Given the description of an element on the screen output the (x, y) to click on. 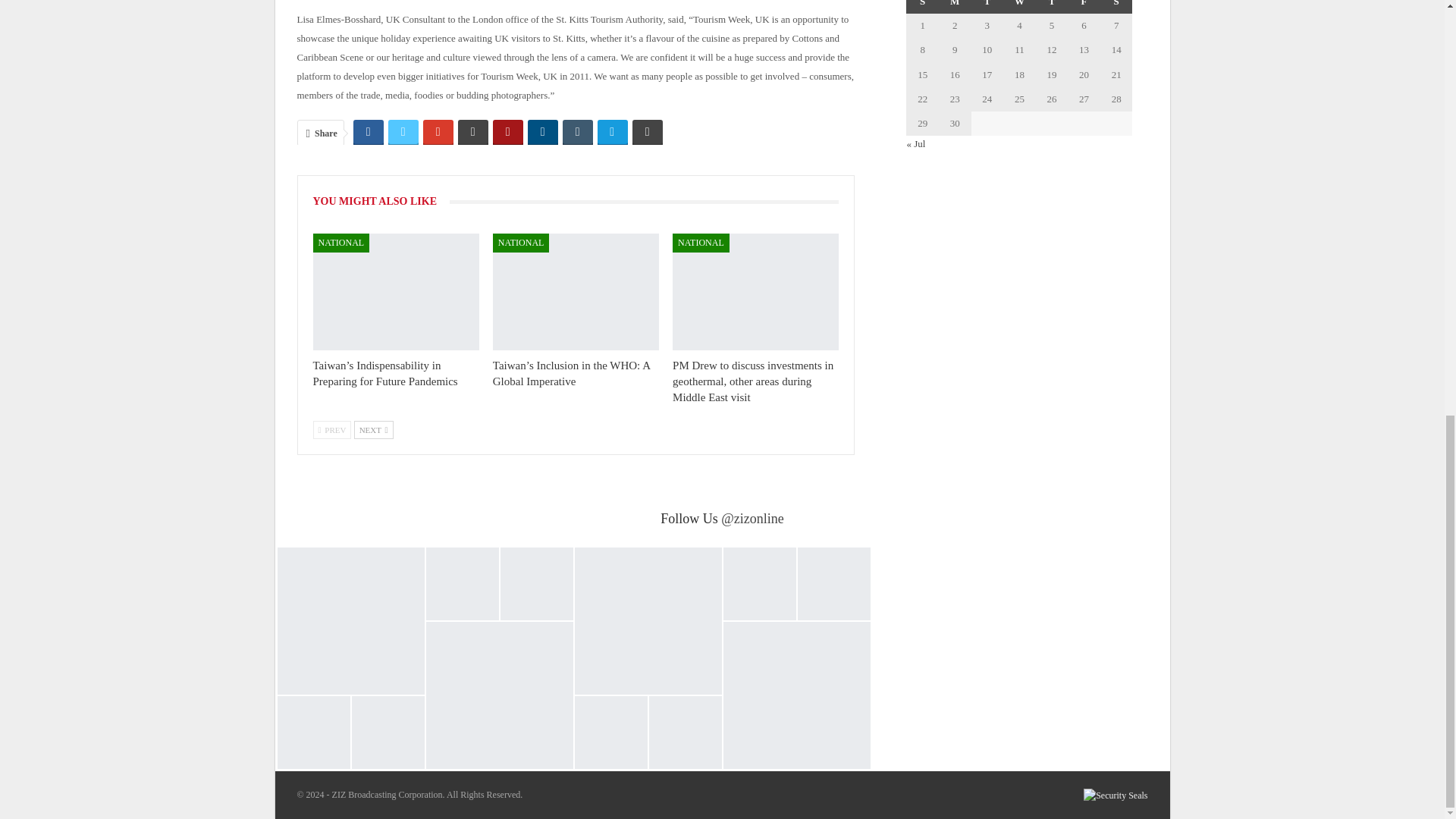
Tuesday (987, 6)
Sunday (922, 6)
Thursday (1051, 6)
Next (373, 429)
Previous (331, 429)
Wednesday (1019, 6)
Monday (955, 6)
